Given the description of an element on the screen output the (x, y) to click on. 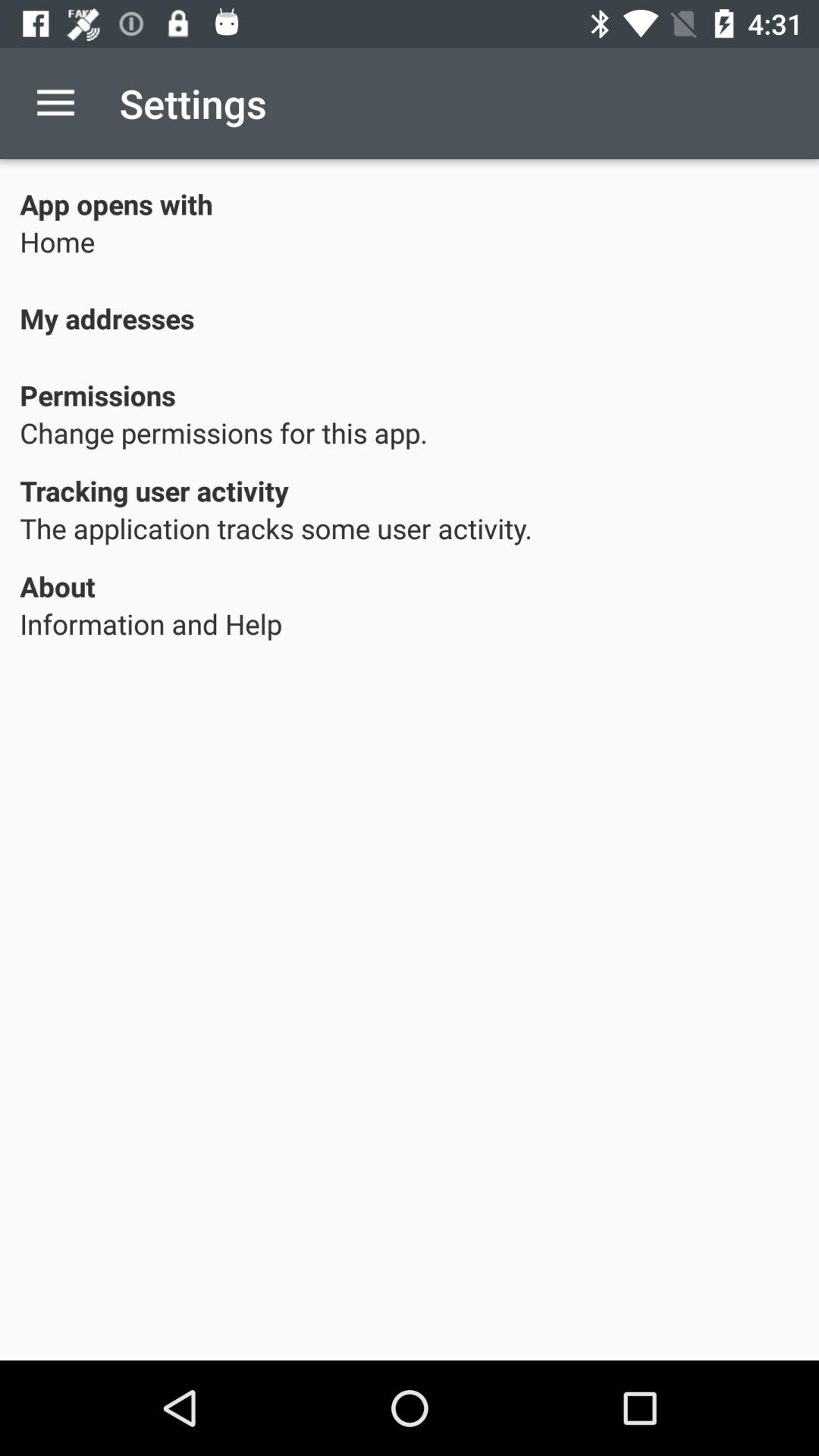
turn on icon above app opens with icon (55, 103)
